Given the description of an element on the screen output the (x, y) to click on. 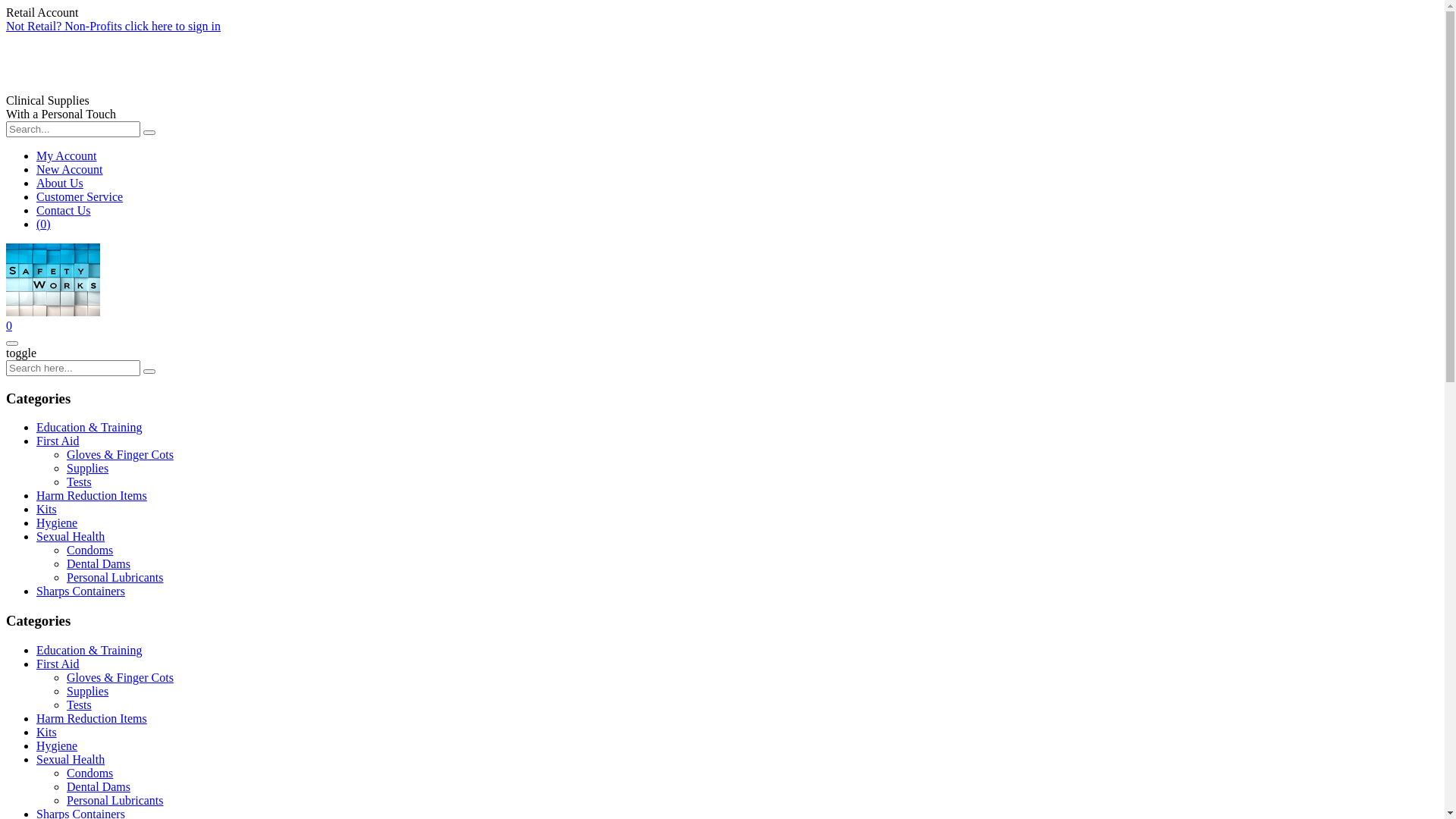
Harm Reduction Items Element type: text (91, 718)
Dental Dams Element type: text (98, 786)
0 Element type: text (9, 325)
Contact Us Element type: text (63, 209)
Customer Service Element type: text (79, 196)
First Aid Element type: text (57, 440)
Sharps Containers Element type: text (80, 590)
Education & Training Element type: text (89, 649)
My Account Element type: text (66, 155)
Hygiene Element type: text (56, 745)
Harm Reduction Items Element type: text (91, 495)
New Account Element type: text (69, 169)
Tests Element type: text (78, 481)
First Aid Element type: text (57, 663)
Education & Training Element type: text (89, 426)
Hygiene Element type: text (56, 522)
Sexual Health Element type: text (70, 759)
Personal Lubricants Element type: text (114, 577)
Dental Dams Element type: text (98, 563)
Personal Lubricants Element type: text (114, 799)
Gloves & Finger Cots Element type: text (119, 677)
Kits Element type: text (46, 508)
Condoms Element type: text (89, 772)
Sexual Health Element type: text (70, 536)
Kits Element type: text (46, 731)
(0) Element type: text (43, 223)
About Us Element type: text (59, 182)
Condoms Element type: text (89, 549)
Supplies Element type: text (87, 690)
Supplies Element type: text (87, 467)
Gloves & Finger Cots Element type: text (119, 454)
Not Retail? Non-Profits click here to sign in Element type: text (113, 25)
Tests Element type: text (78, 704)
